Given the description of an element on the screen output the (x, y) to click on. 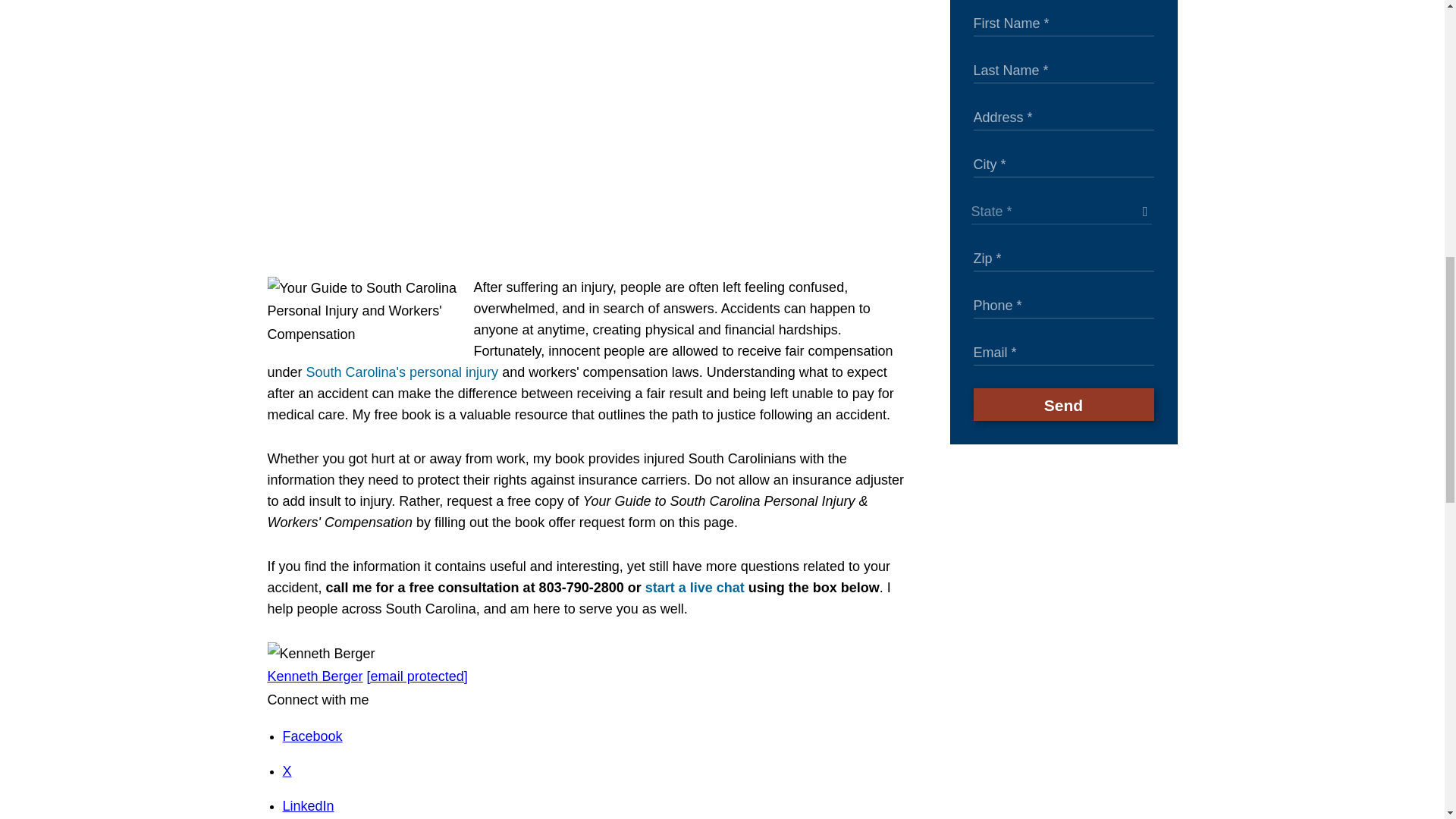
Connect with me on LinkedIn (307, 806)
Find me on Facebook (312, 735)
